Given the description of an element on the screen output the (x, y) to click on. 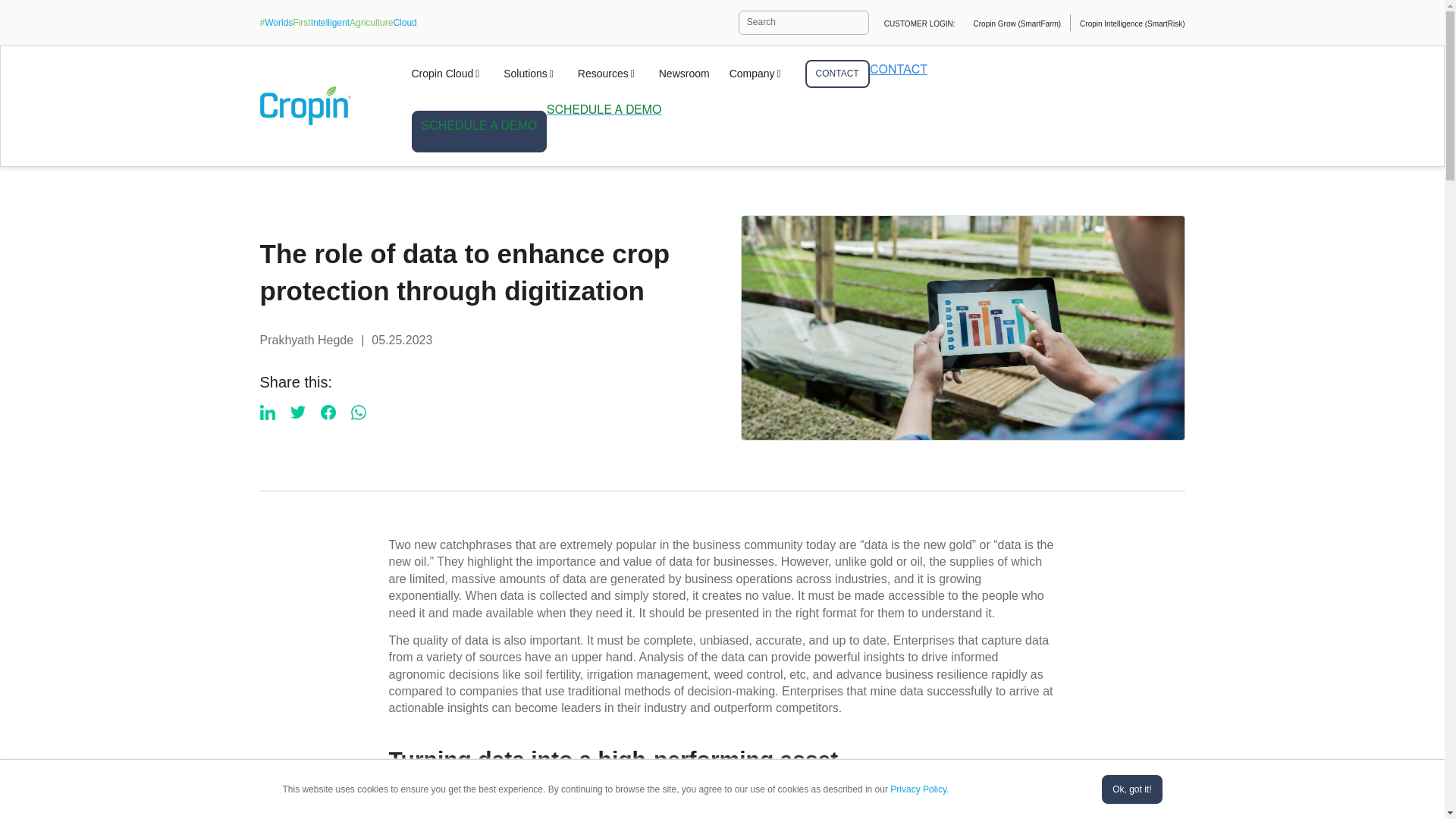
Solutions (530, 73)
Privacy Policy (917, 788)
CONTACT (837, 73)
Newsroom (684, 73)
CONTACT (837, 73)
Company (757, 73)
Ok, got it! (1131, 788)
Resources (608, 73)
SCHEDULE A DEMO (478, 130)
Cropin Cloud (446, 73)
